Given the description of an element on the screen output the (x, y) to click on. 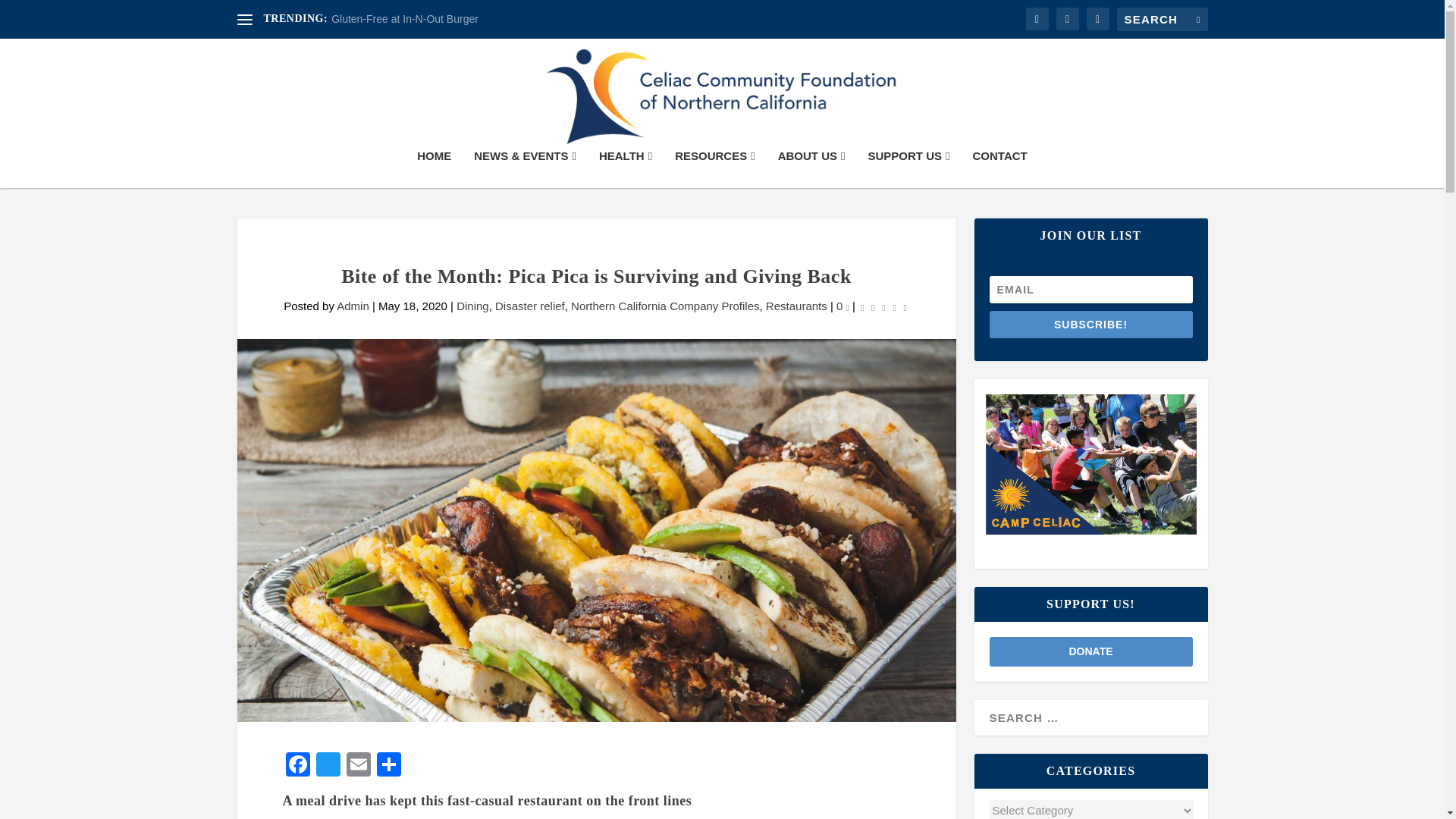
Search for: (1161, 19)
Rating: 0.00 (883, 306)
Email (357, 766)
Posts by Admin (352, 305)
Twitter (327, 766)
Gluten-Free at In-N-Out Burger (405, 19)
HOME (433, 168)
HEALTH (625, 168)
Facebook (297, 766)
RESOURCES (715, 168)
